Given the description of an element on the screen output the (x, y) to click on. 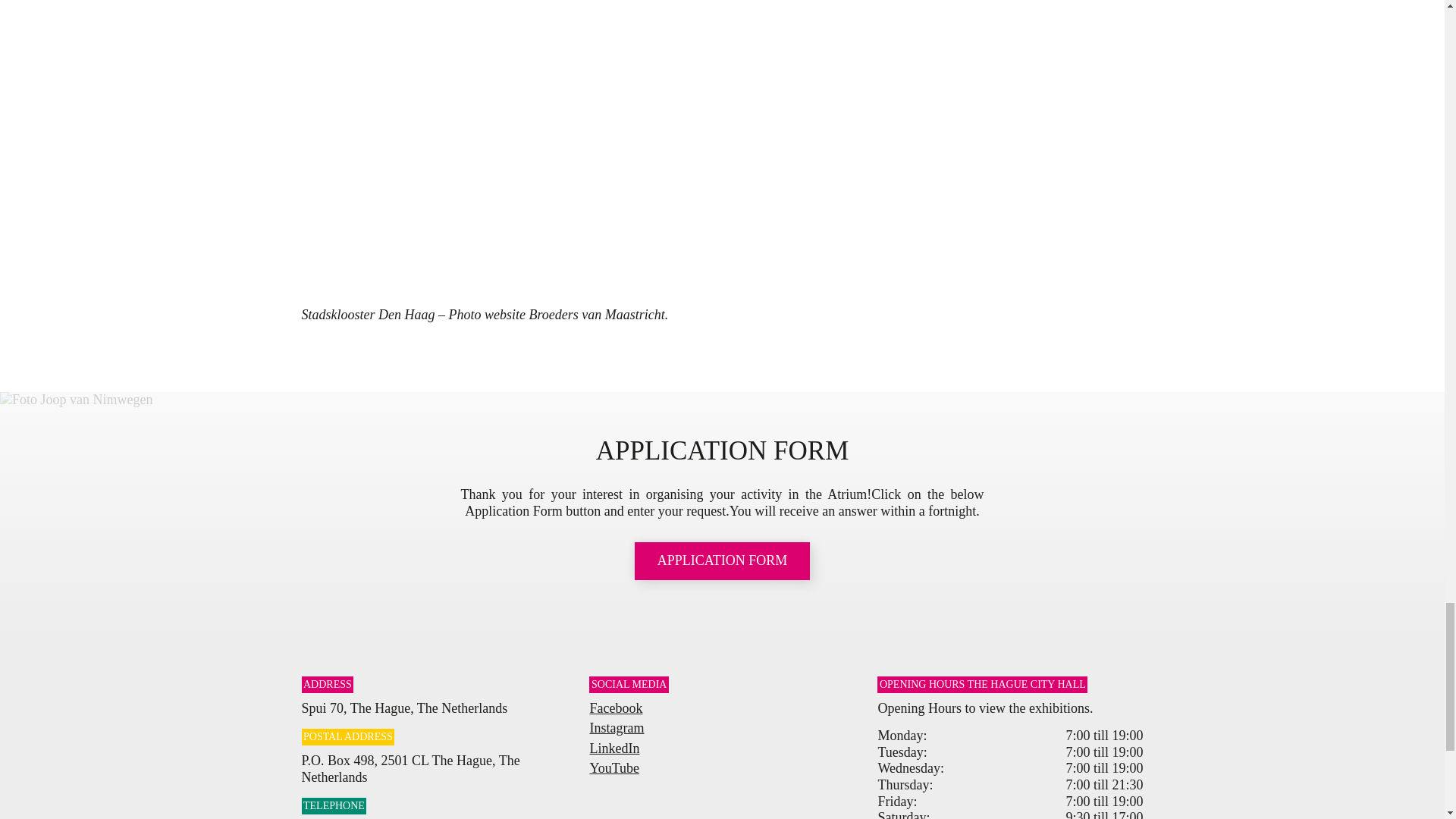
APPLICATION FORM (722, 560)
Instagram (616, 727)
Facebook (615, 708)
LinkedIn (614, 748)
YouTube (614, 767)
